Given the description of an element on the screen output the (x, y) to click on. 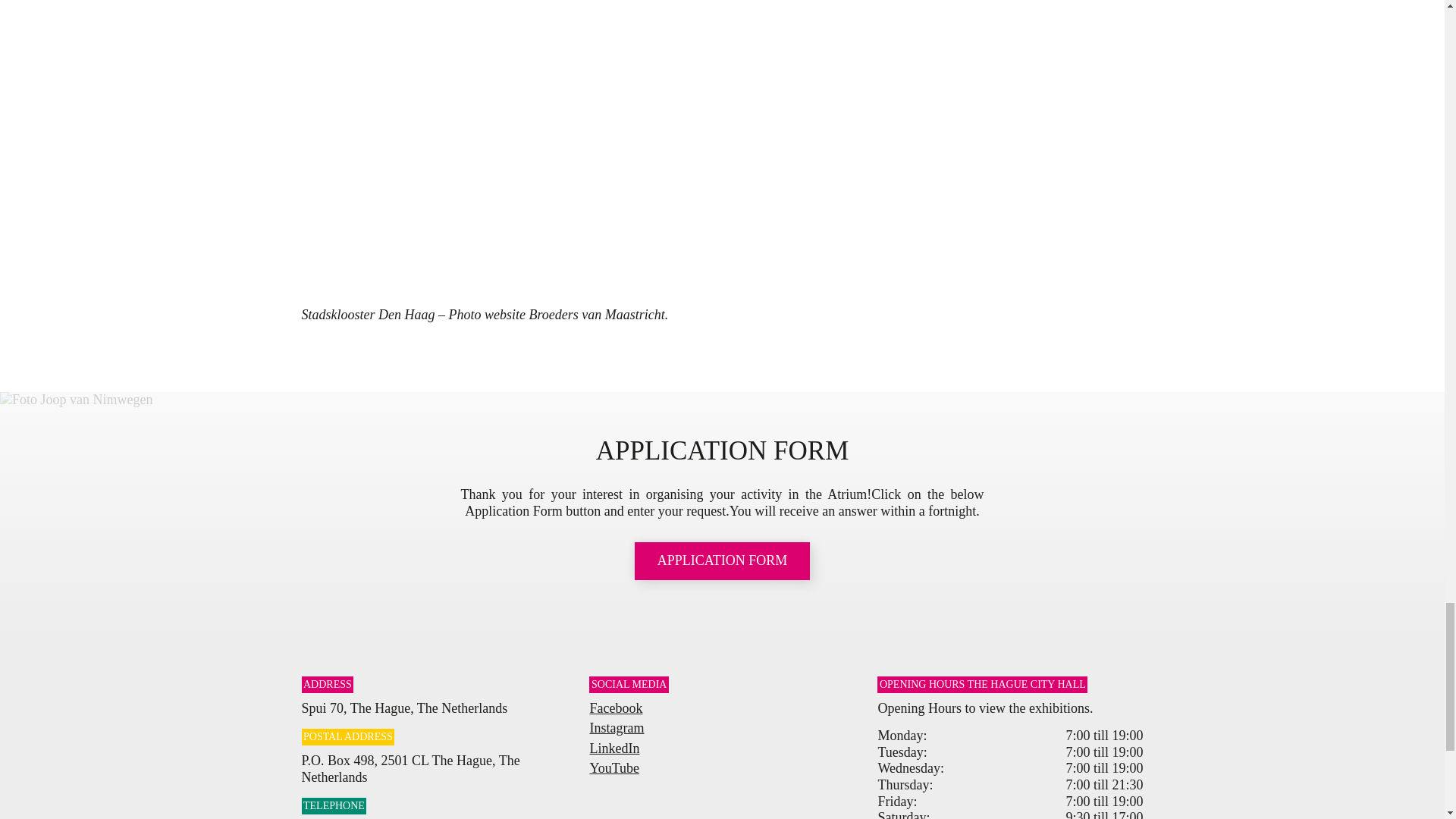
APPLICATION FORM (722, 560)
Instagram (616, 727)
Facebook (615, 708)
LinkedIn (614, 748)
YouTube (614, 767)
